Given the description of an element on the screen output the (x, y) to click on. 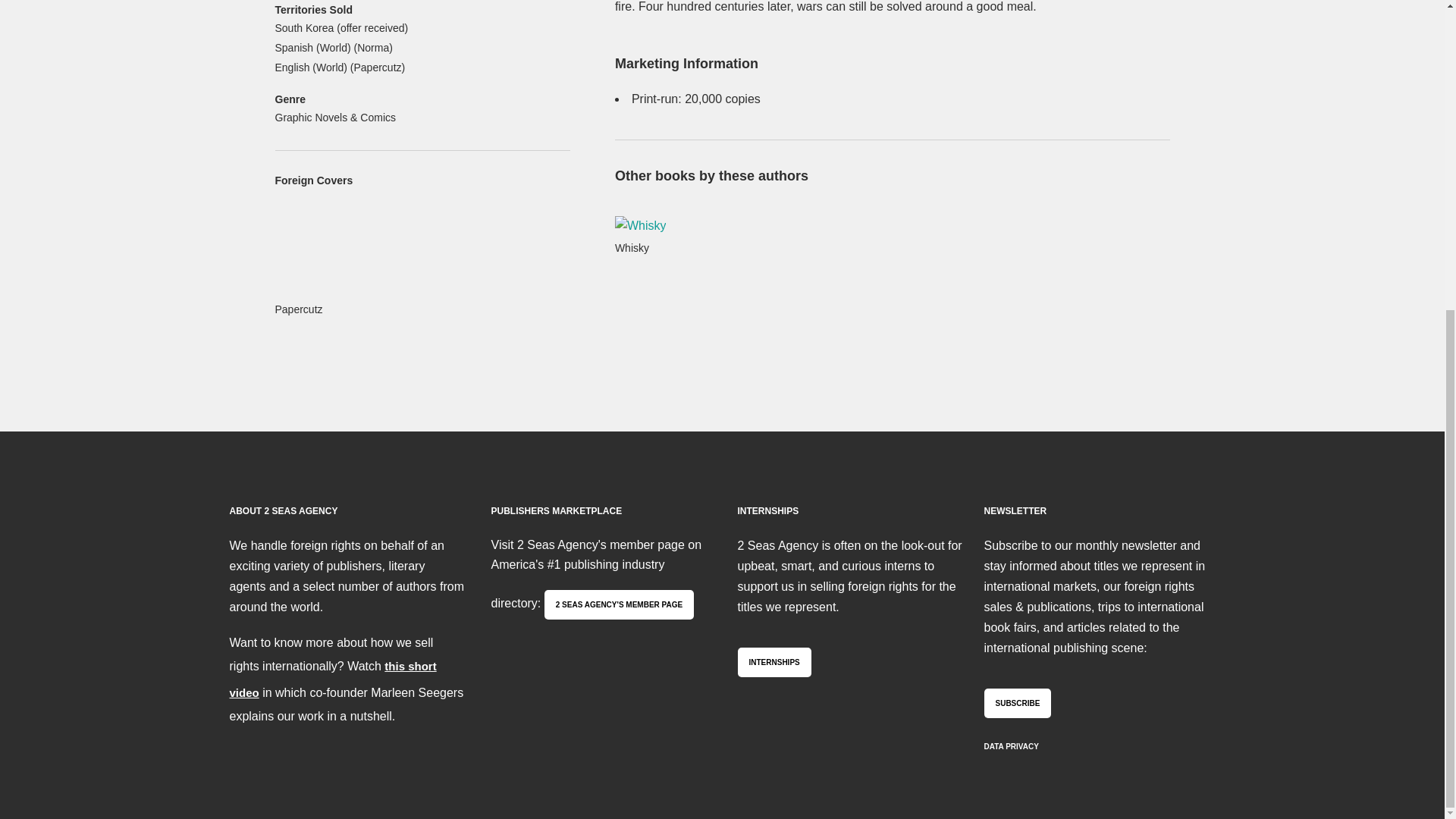
INTERNSHIPS (773, 662)
2 SEAS AGENCY'S MEMBER PAGE (619, 604)
SUBSCRIBE (1017, 703)
Whisky (666, 236)
this short video (331, 679)
DATA PRIVACY (1011, 746)
